Given the description of an element on the screen output the (x, y) to click on. 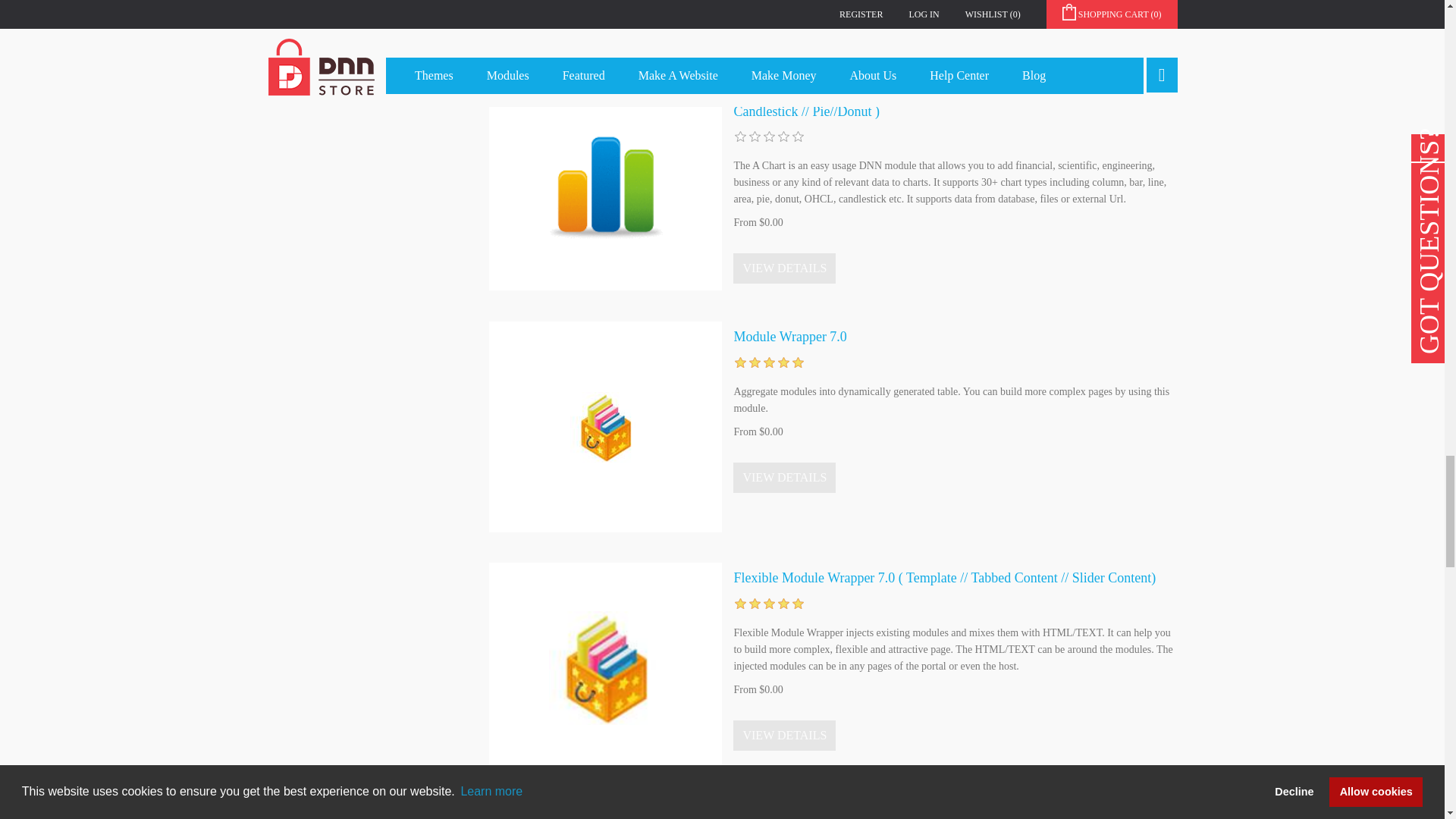
View Details (784, 268)
View Details (784, 735)
View Details (784, 477)
View Details (784, 13)
